Given the description of an element on the screen output the (x, y) to click on. 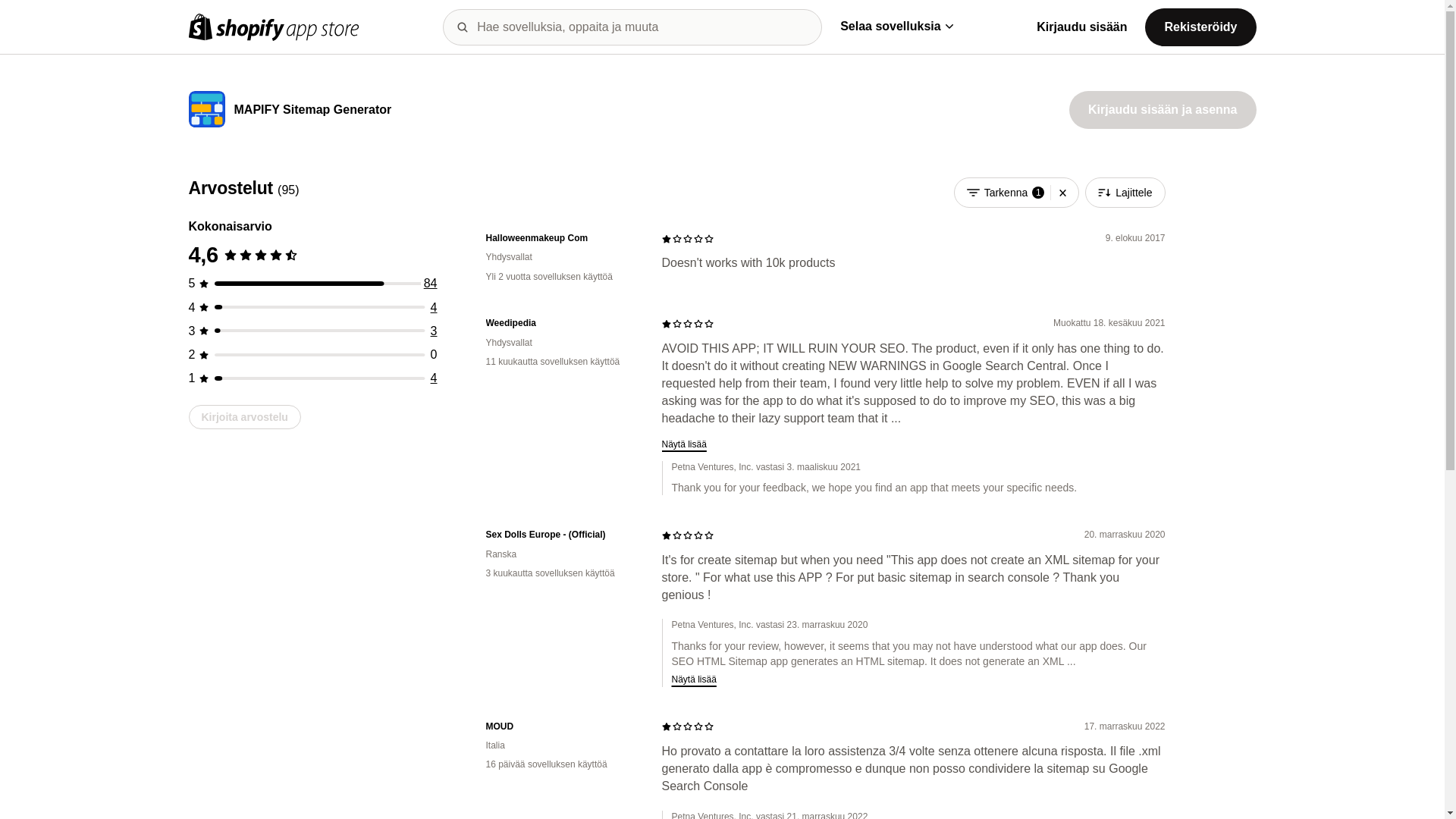
Weedipedia  (560, 323)
MOUD (560, 726)
84 (430, 282)
MAPIFY Sitemap Generator (311, 110)
Kirjoita arvostelu (243, 416)
Selaa sovelluksia (896, 26)
Halloweenmakeup Com (560, 237)
